Given the description of an element on the screen output the (x, y) to click on. 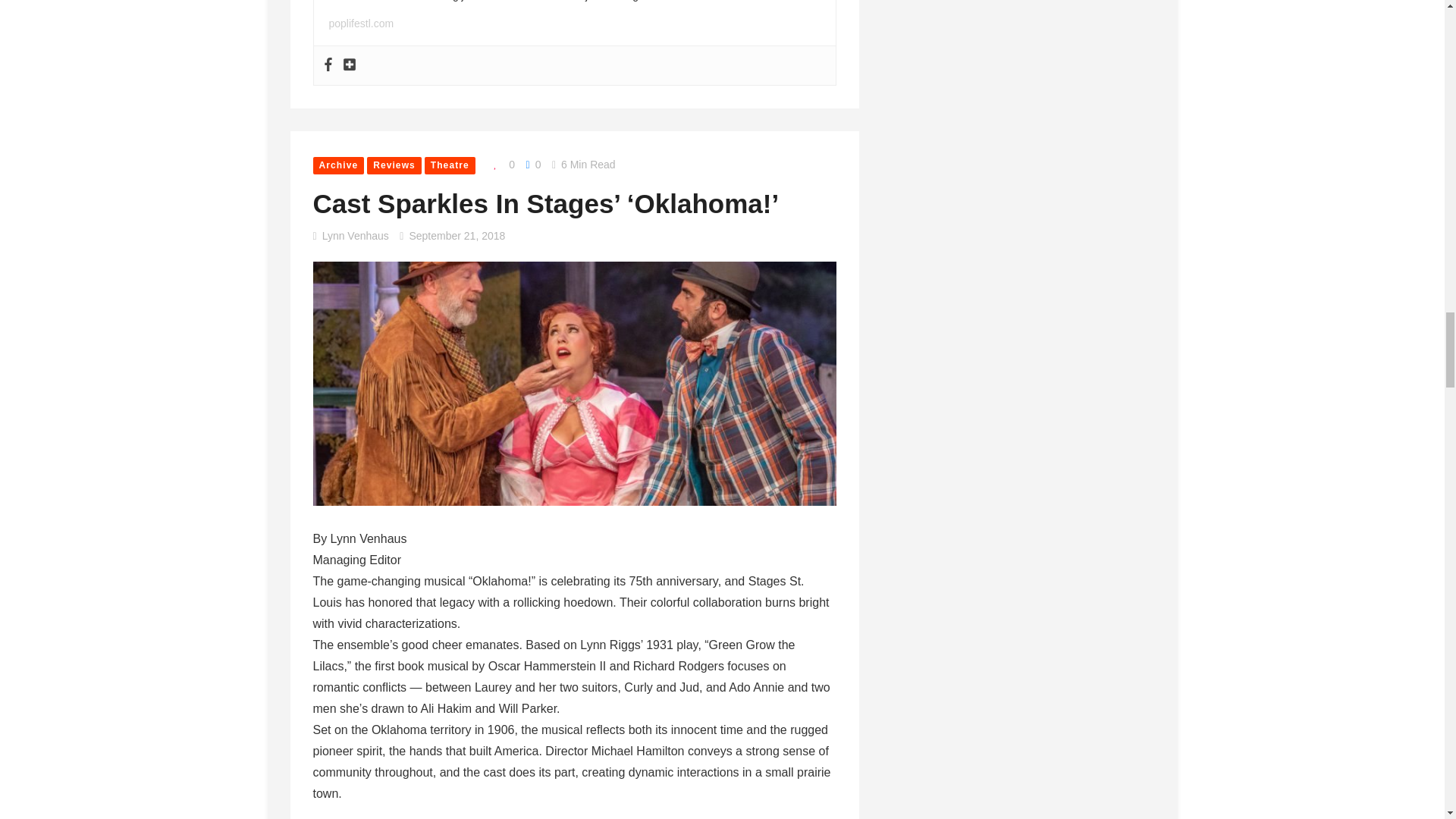
Like this (500, 164)
Archive (338, 165)
Theatre (450, 165)
Reviews (394, 165)
poplifestl.com (361, 23)
September 21, 2018 (457, 235)
0 (532, 164)
0 (500, 164)
Lynn Venhaus (354, 235)
